Given the description of an element on the screen output the (x, y) to click on. 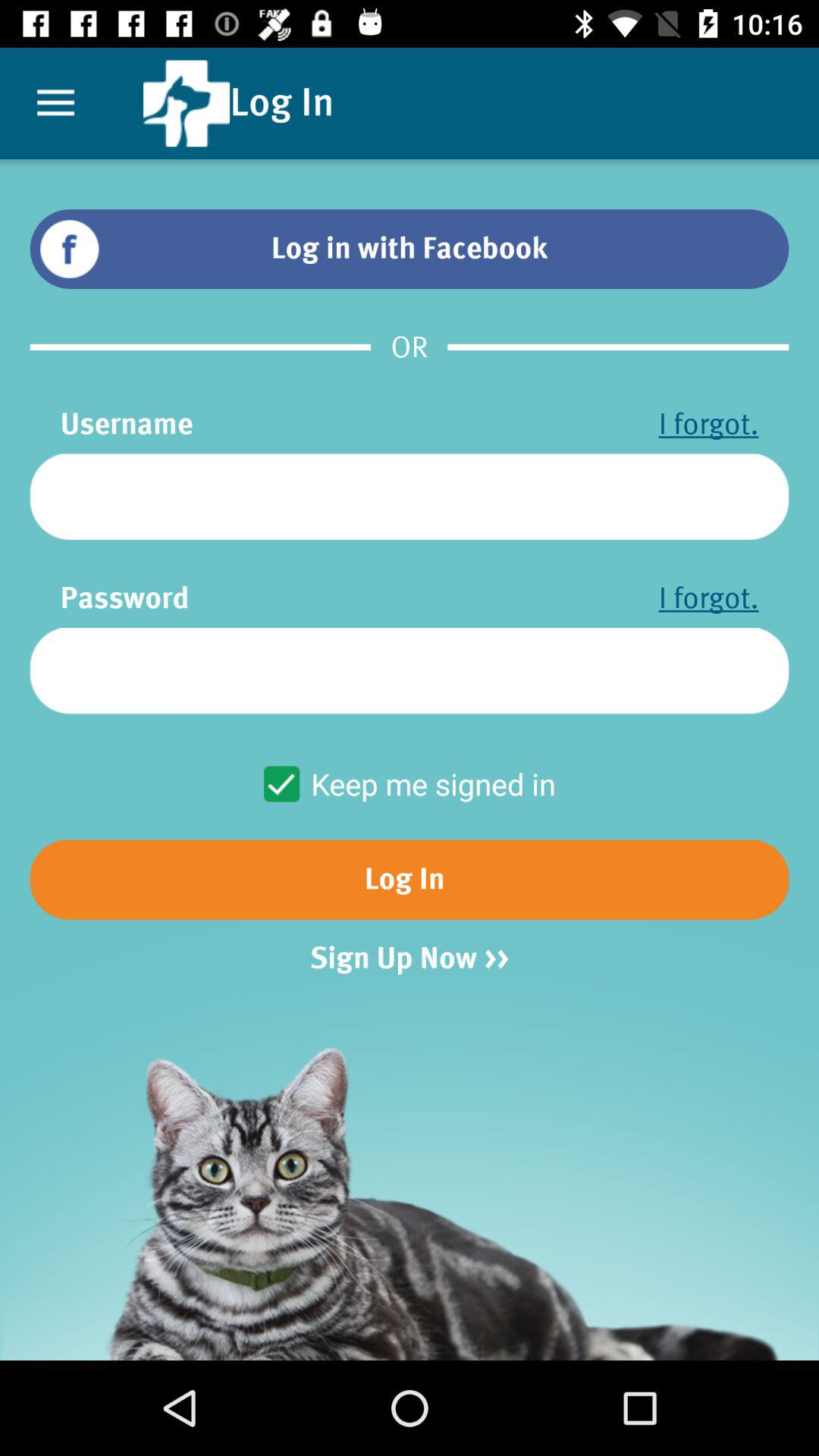
launch icon below the username item (409, 496)
